Given the description of an element on the screen output the (x, y) to click on. 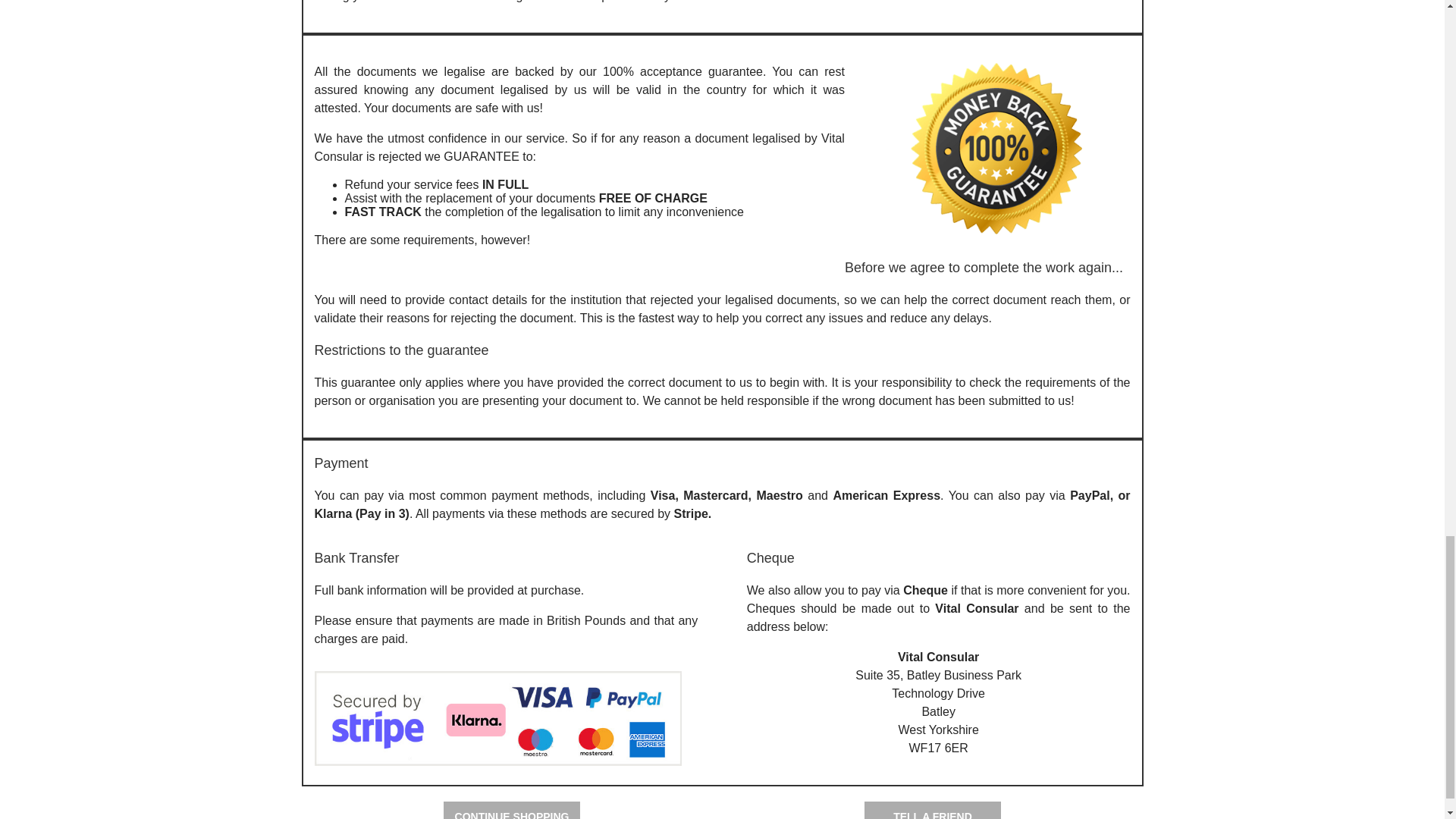
TELL A FRIEND (932, 810)
CONTINUE SHOPPING (511, 810)
